Given the description of an element on the screen output the (x, y) to click on. 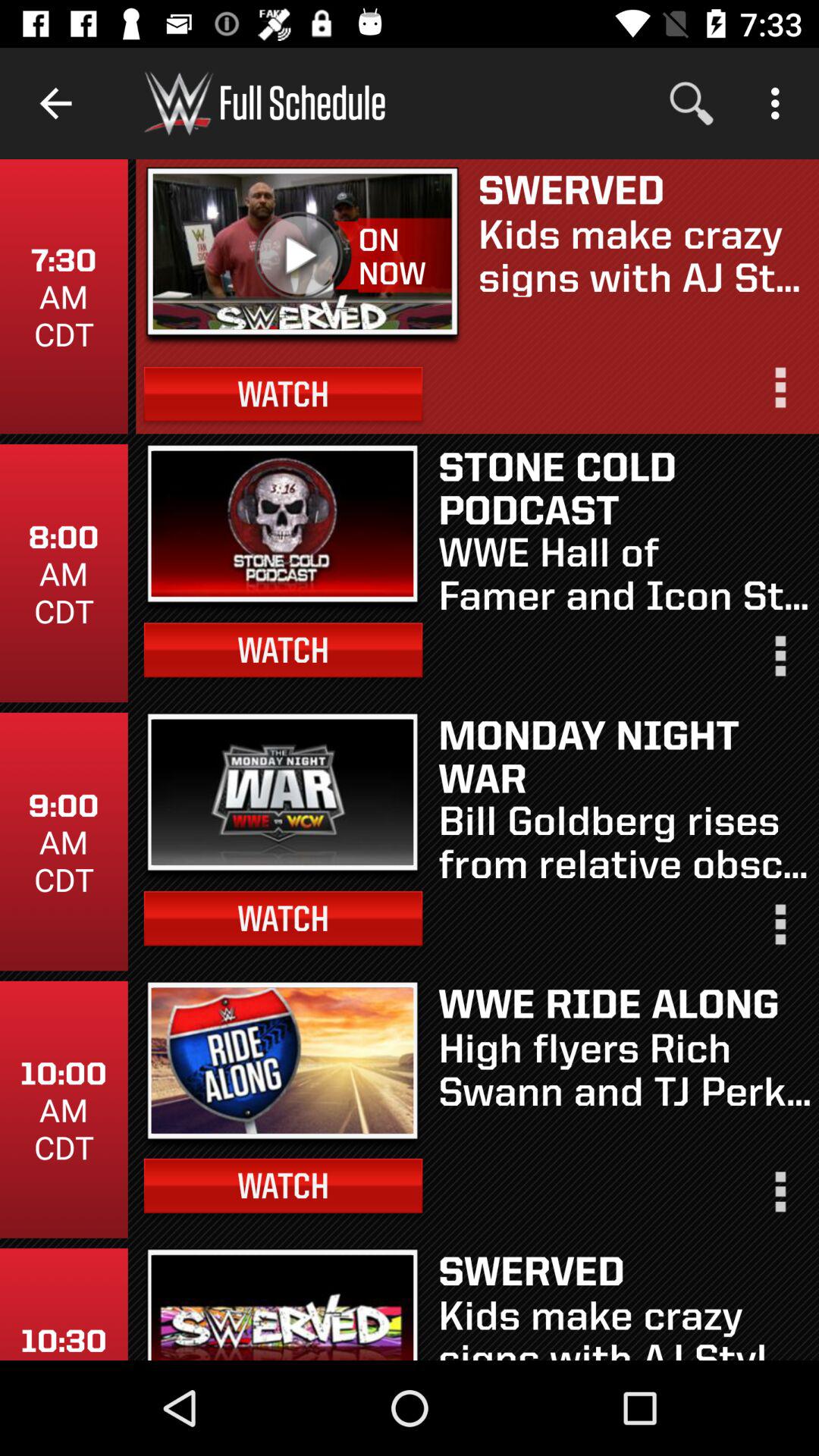
drop down for more options (779, 930)
